Given the description of an element on the screen output the (x, y) to click on. 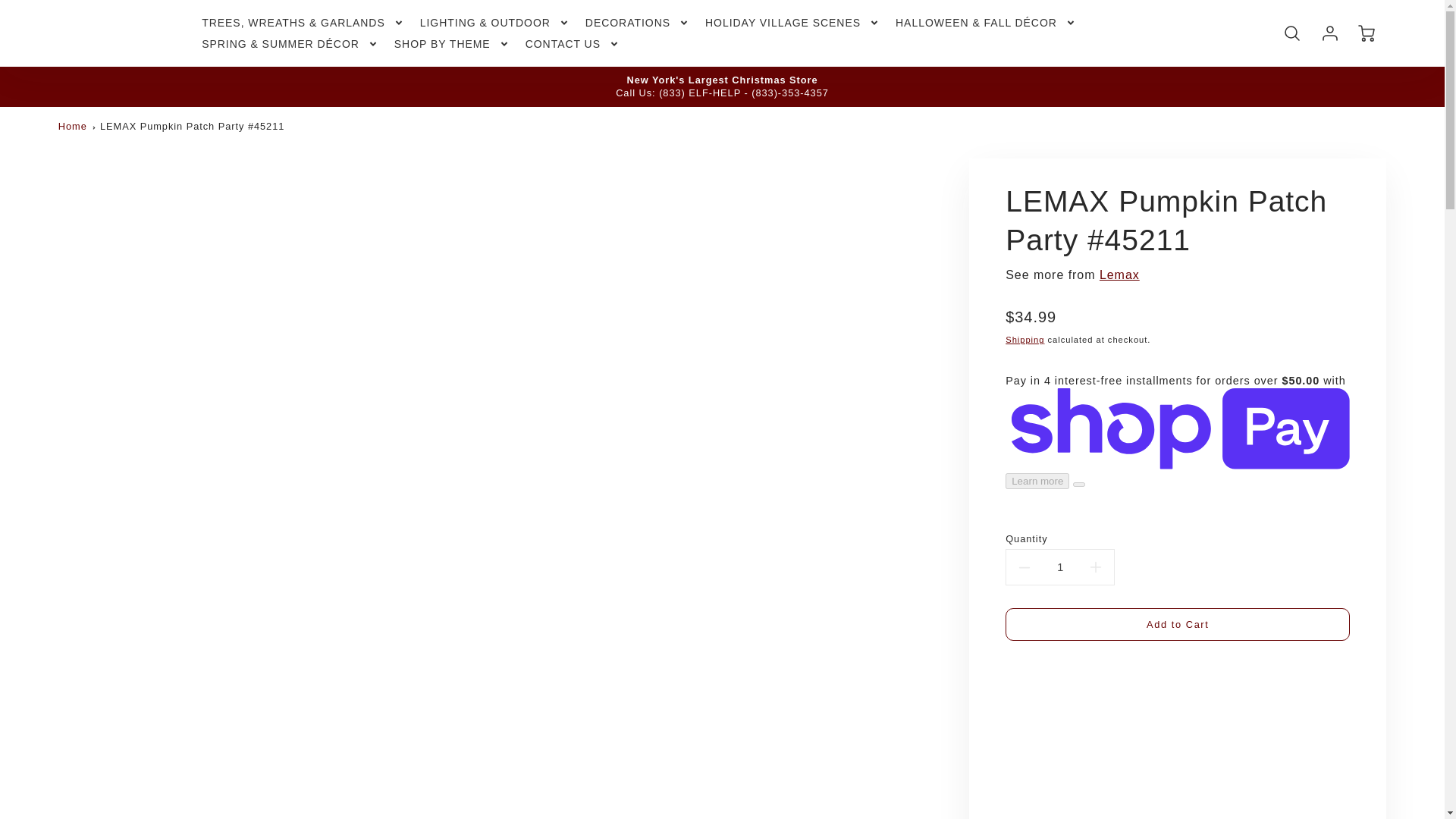
DECORATIONS (637, 22)
1 (1059, 567)
Lemax (1119, 274)
